Given the description of an element on the screen output the (x, y) to click on. 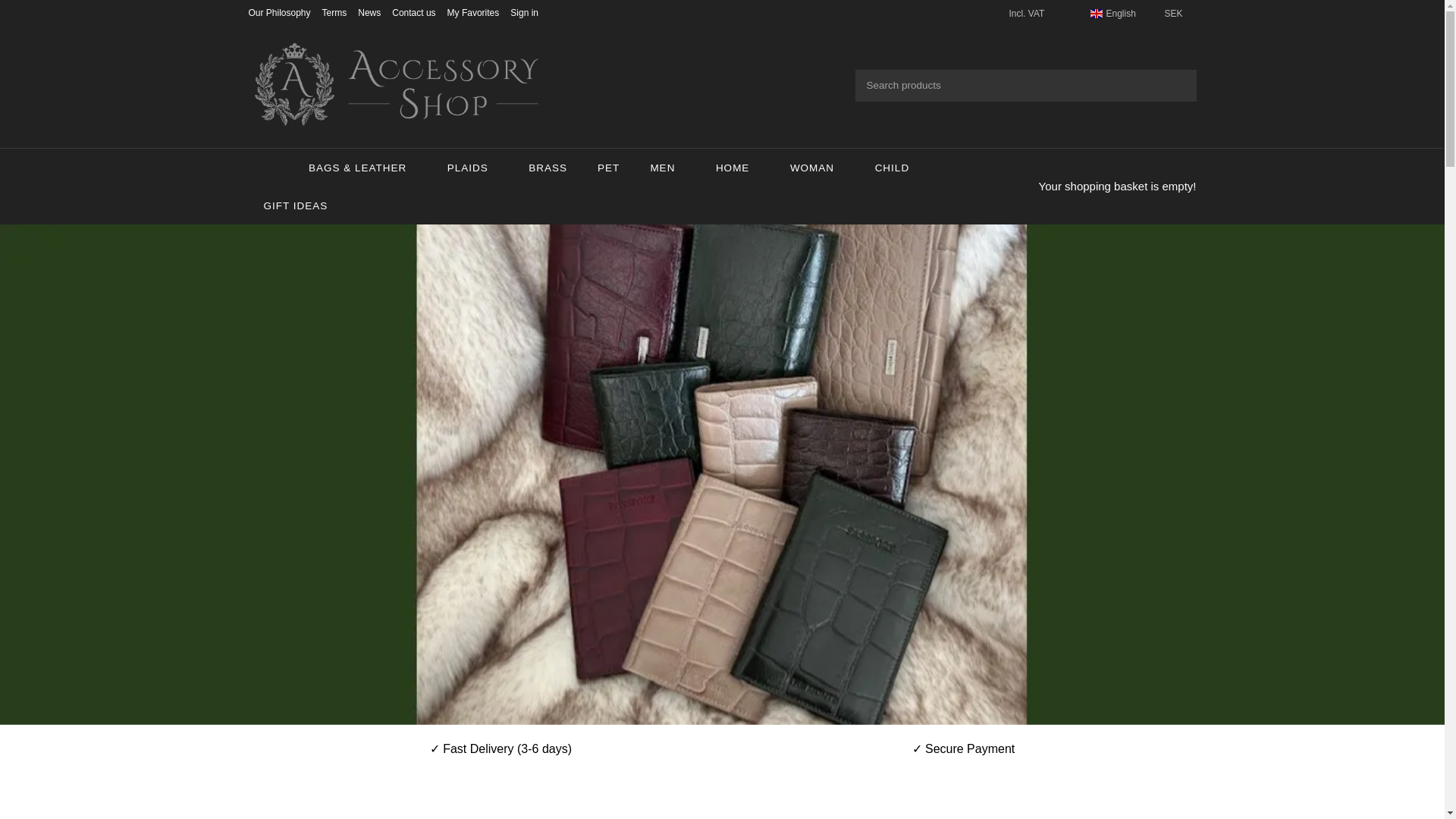
PLAIDS (472, 167)
My Favorites (472, 12)
Our Philosophy (279, 12)
Sign in (524, 12)
Contact us (413, 12)
BRASS (547, 167)
Terms (334, 12)
News (369, 12)
